Given the description of an element on the screen output the (x, y) to click on. 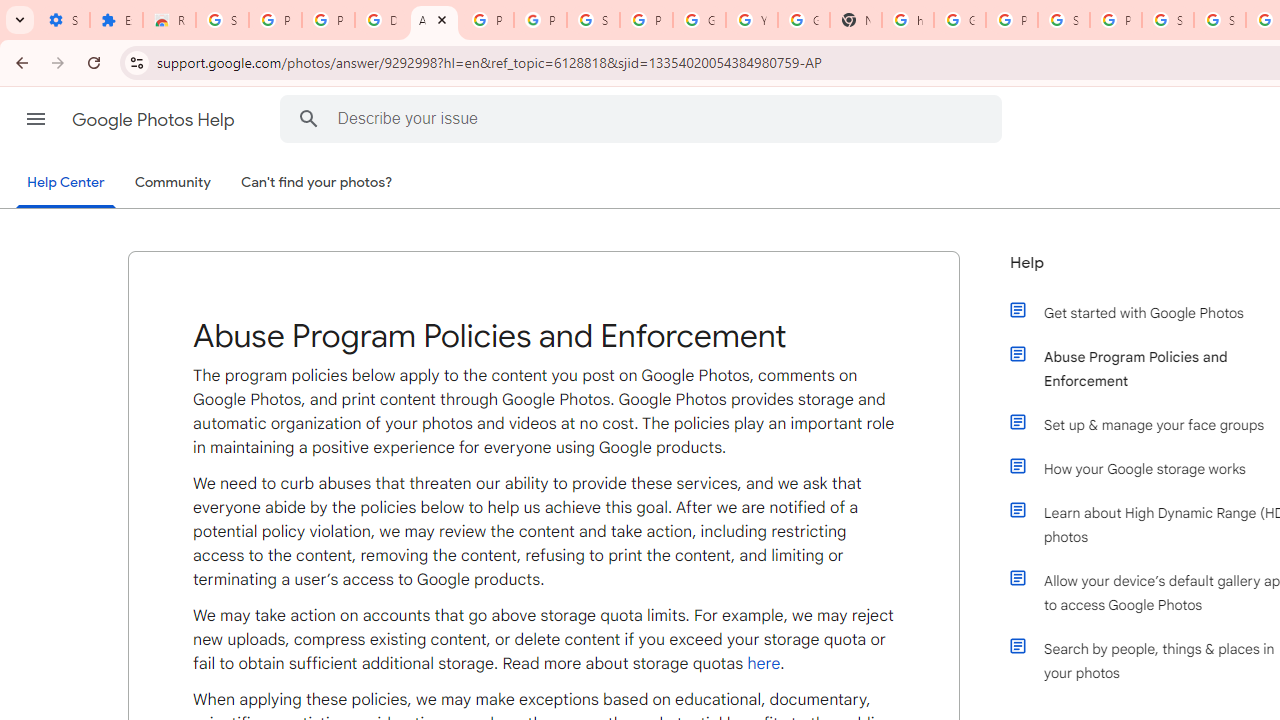
Community (171, 183)
Sign in - Google Accounts (1064, 20)
Sign in - Google Accounts (1167, 20)
Extensions (116, 20)
Sign in - Google Accounts (593, 20)
Describe your issue (644, 118)
Search Help Center (309, 118)
Settings - On startup (63, 20)
here (763, 663)
